Given the description of an element on the screen output the (x, y) to click on. 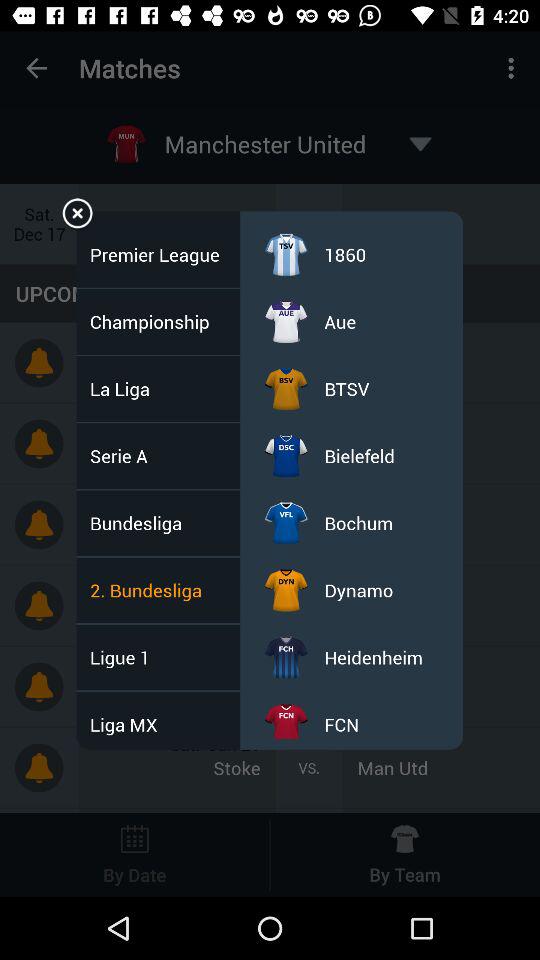
close out options (77, 216)
